Given the description of an element on the screen output the (x, y) to click on. 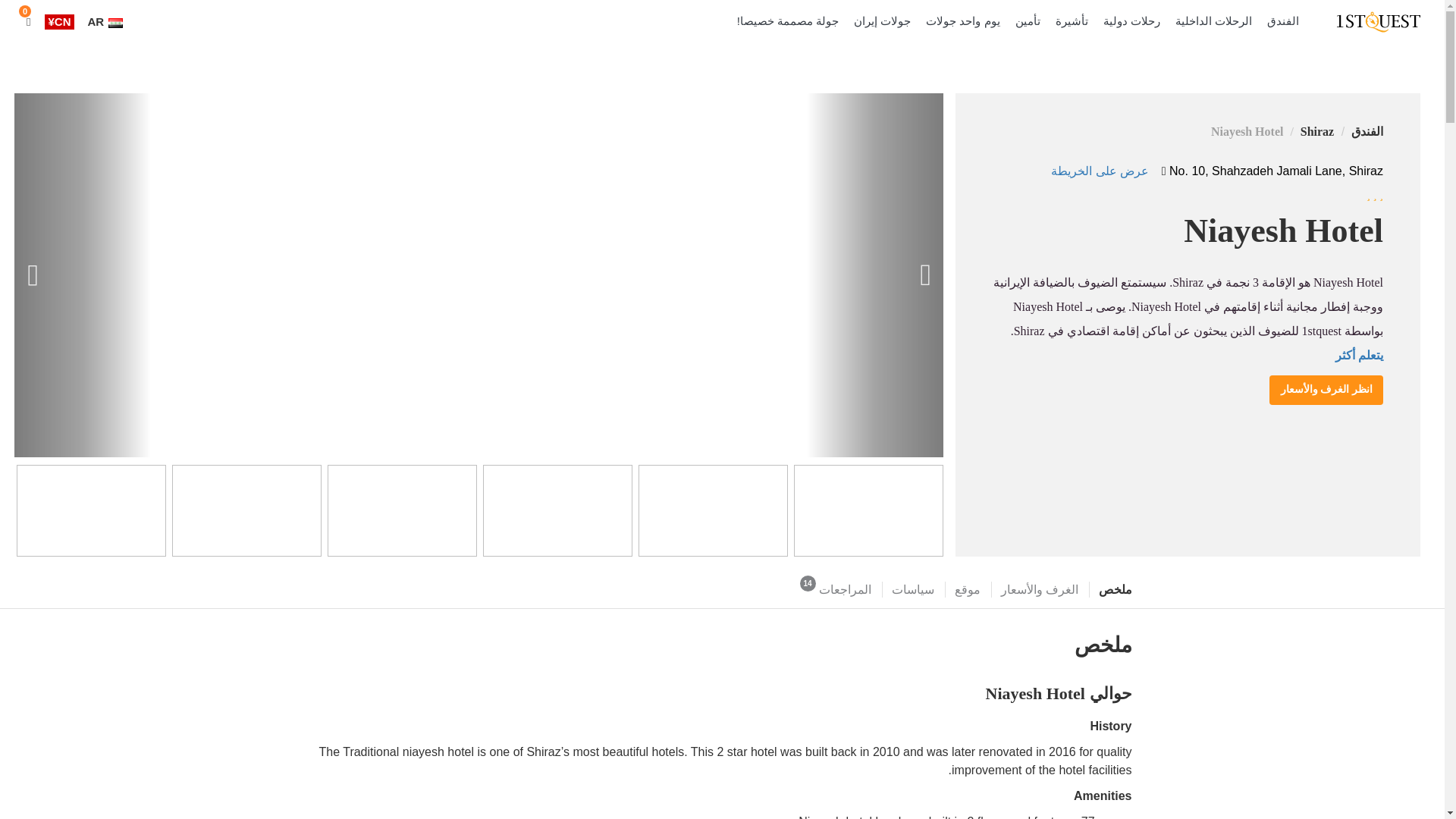
Iran Experiences (962, 21)
AR (104, 21)
Iran hotels (1282, 21)
International Flights for Any route (1131, 21)
Iran tours (882, 21)
Iran visa (1071, 21)
Iran domestic flights (1213, 21)
